Given the description of an element on the screen output the (x, y) to click on. 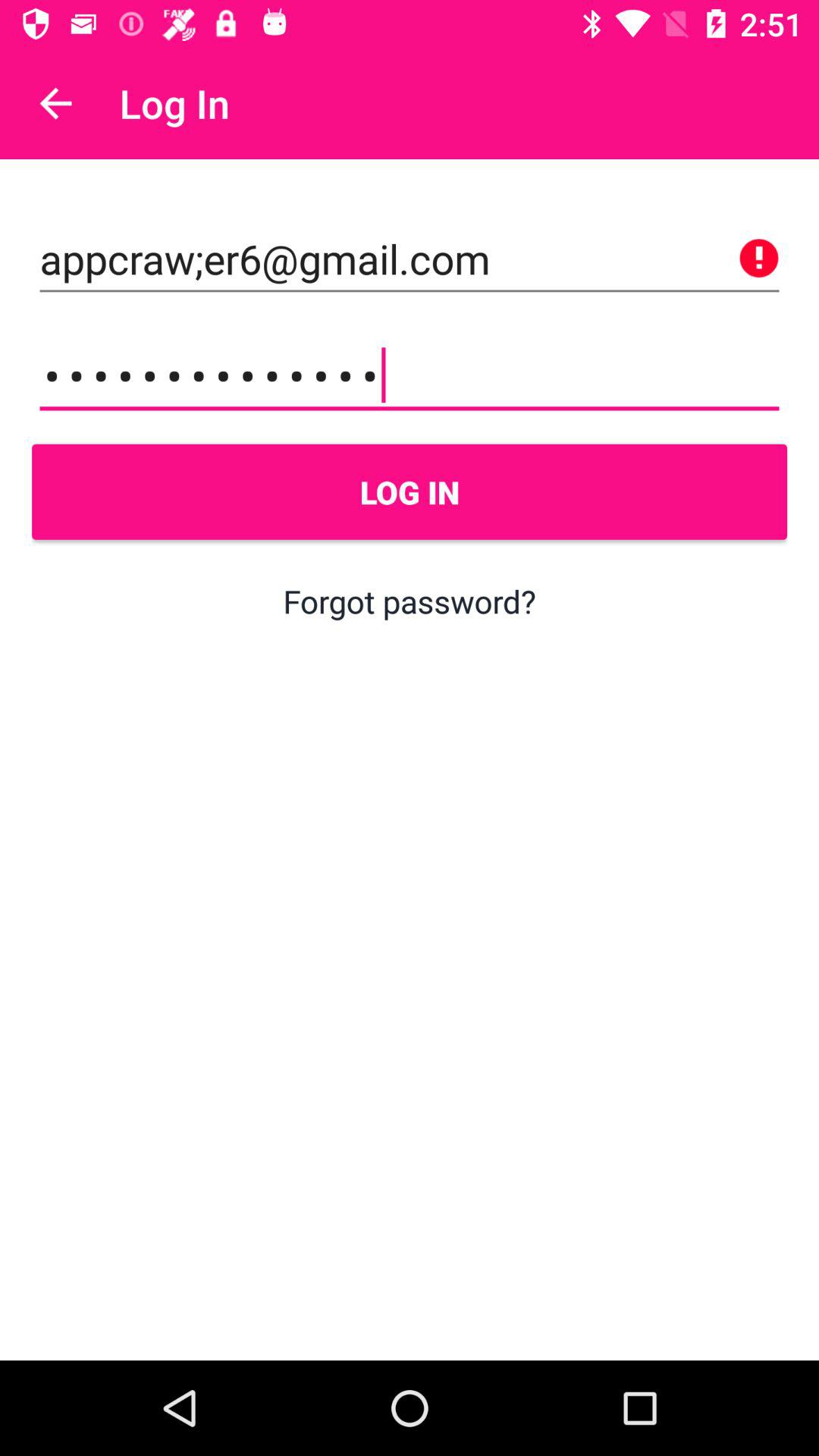
choose appcraw er6 gmail (409, 259)
